Given the description of an element on the screen output the (x, y) to click on. 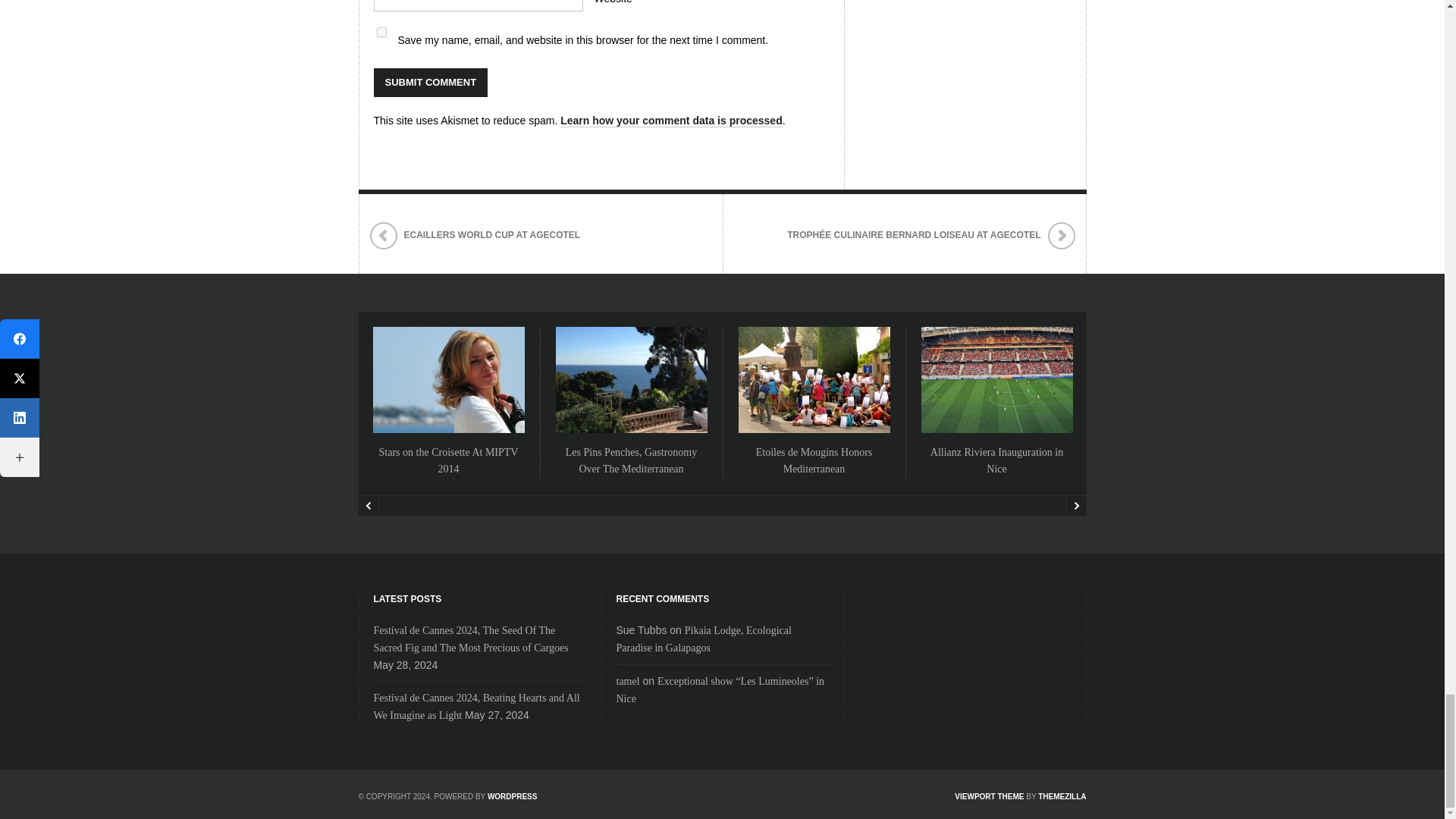
Permanent Link to Allianz Riviera Inauguration in Nice (996, 460)
Permanent Link to Stars on the Croisette At MIPTV 2014 (448, 460)
Permanent Link to Etoiles de Mougins Honors Mediterranean (813, 460)
Submit Comment (429, 82)
yes (380, 31)
Learn how your comment data is processed (671, 120)
Submit Comment (429, 82)
